Given the description of an element on the screen output the (x, y) to click on. 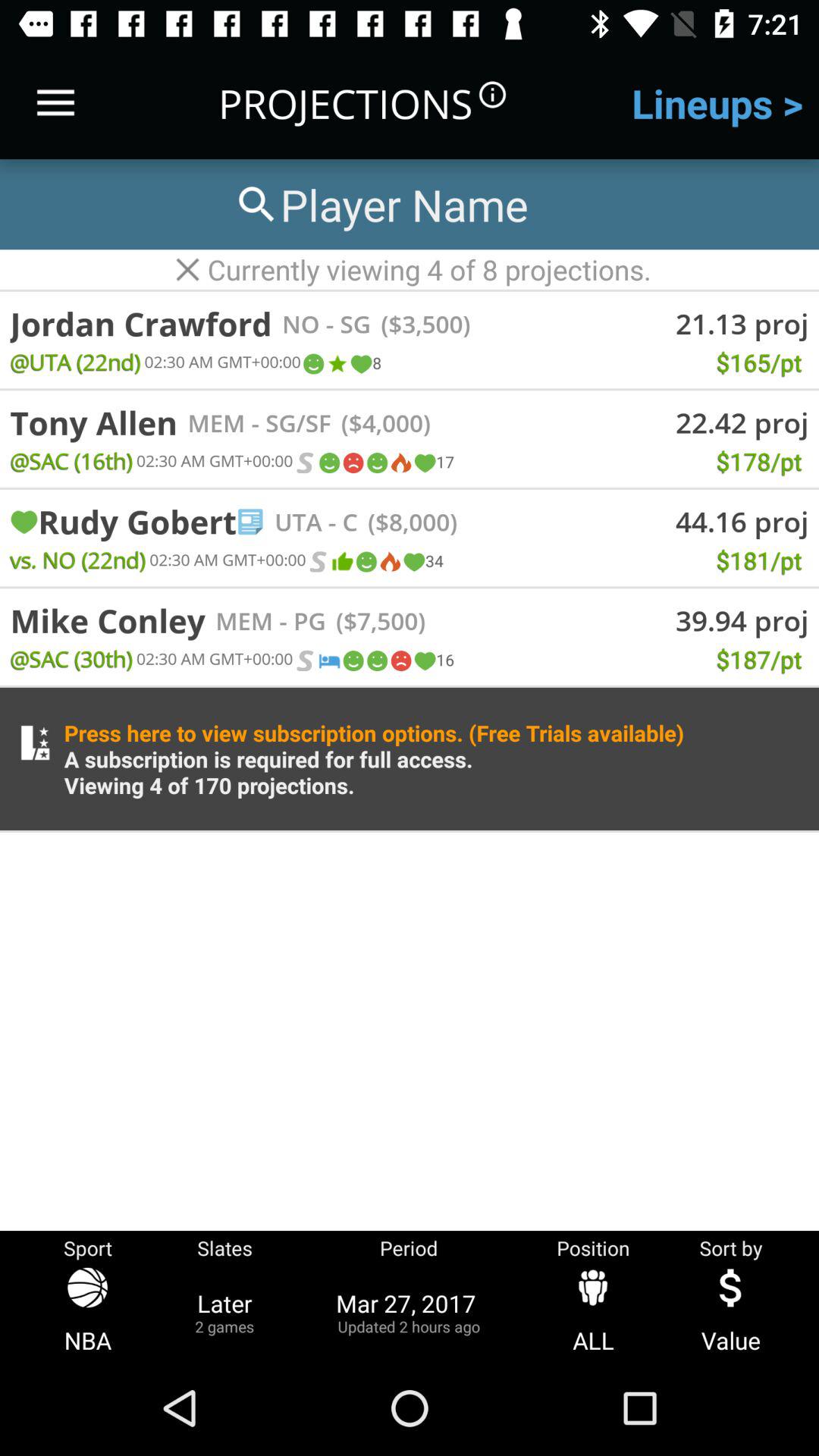
toggle a search bar (380, 204)
